Given the description of an element on the screen output the (x, y) to click on. 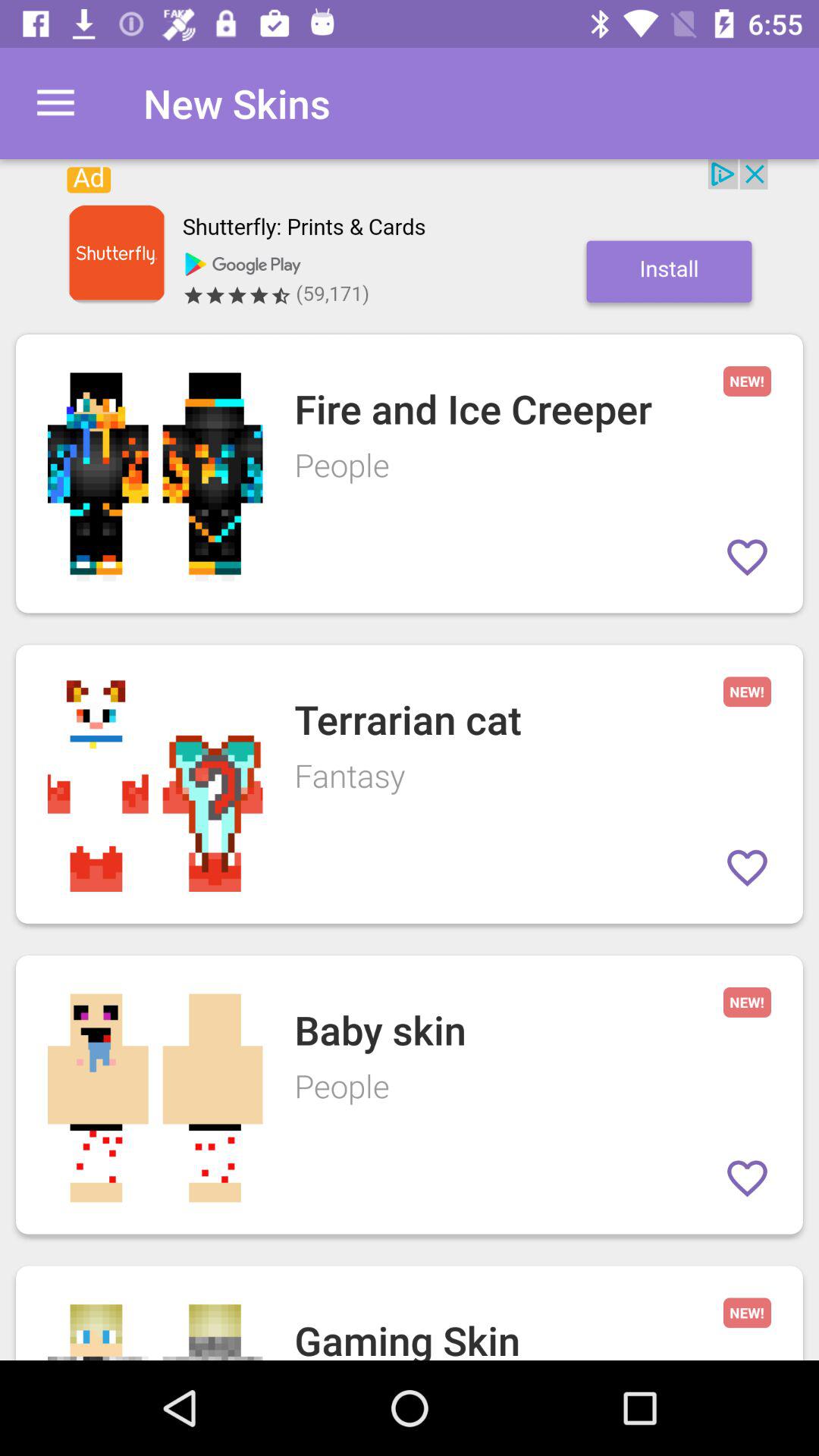
love this item (747, 867)
